Given the description of an element on the screen output the (x, y) to click on. 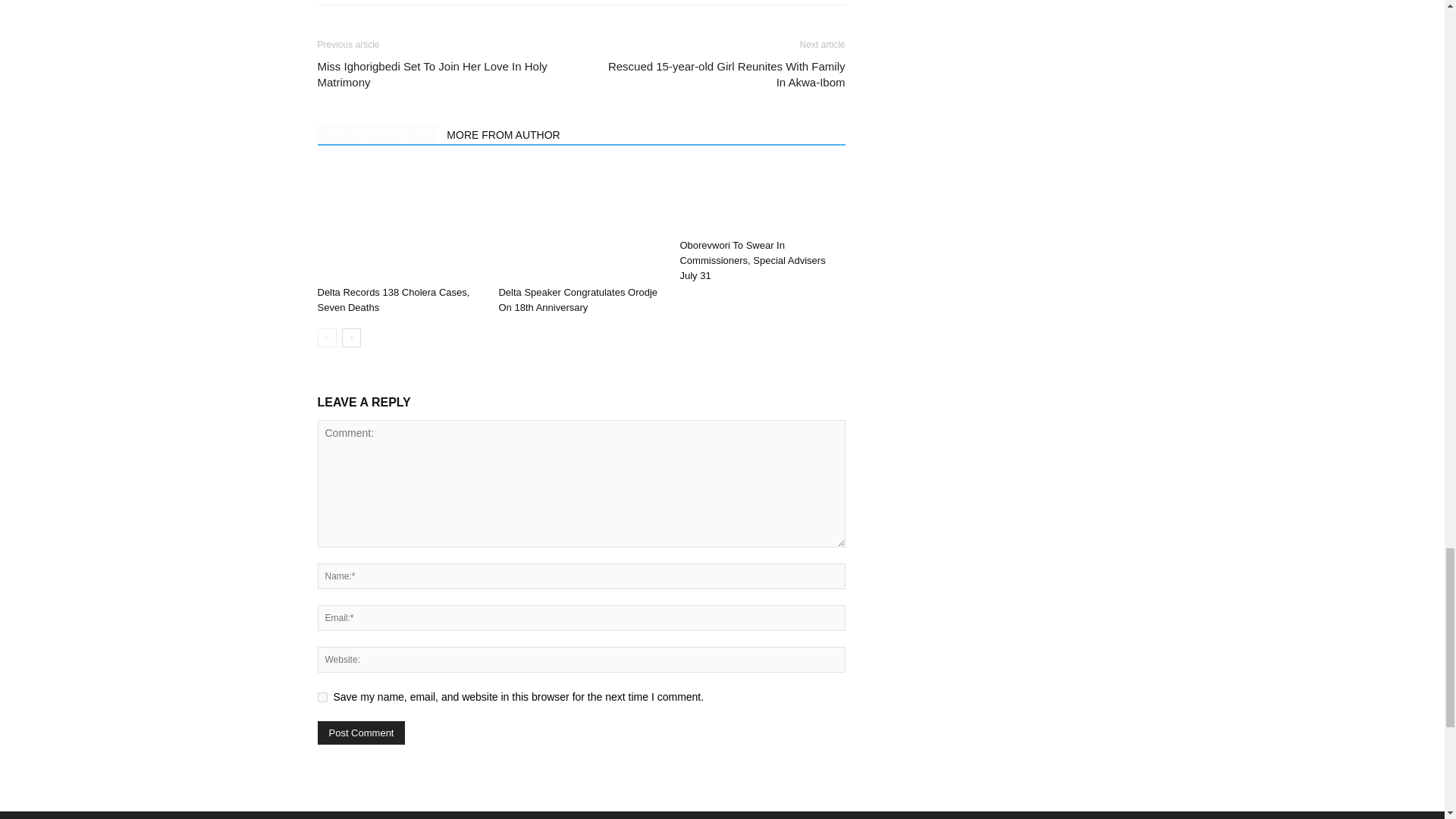
yes (321, 696)
Post Comment (360, 732)
